Given the description of an element on the screen output the (x, y) to click on. 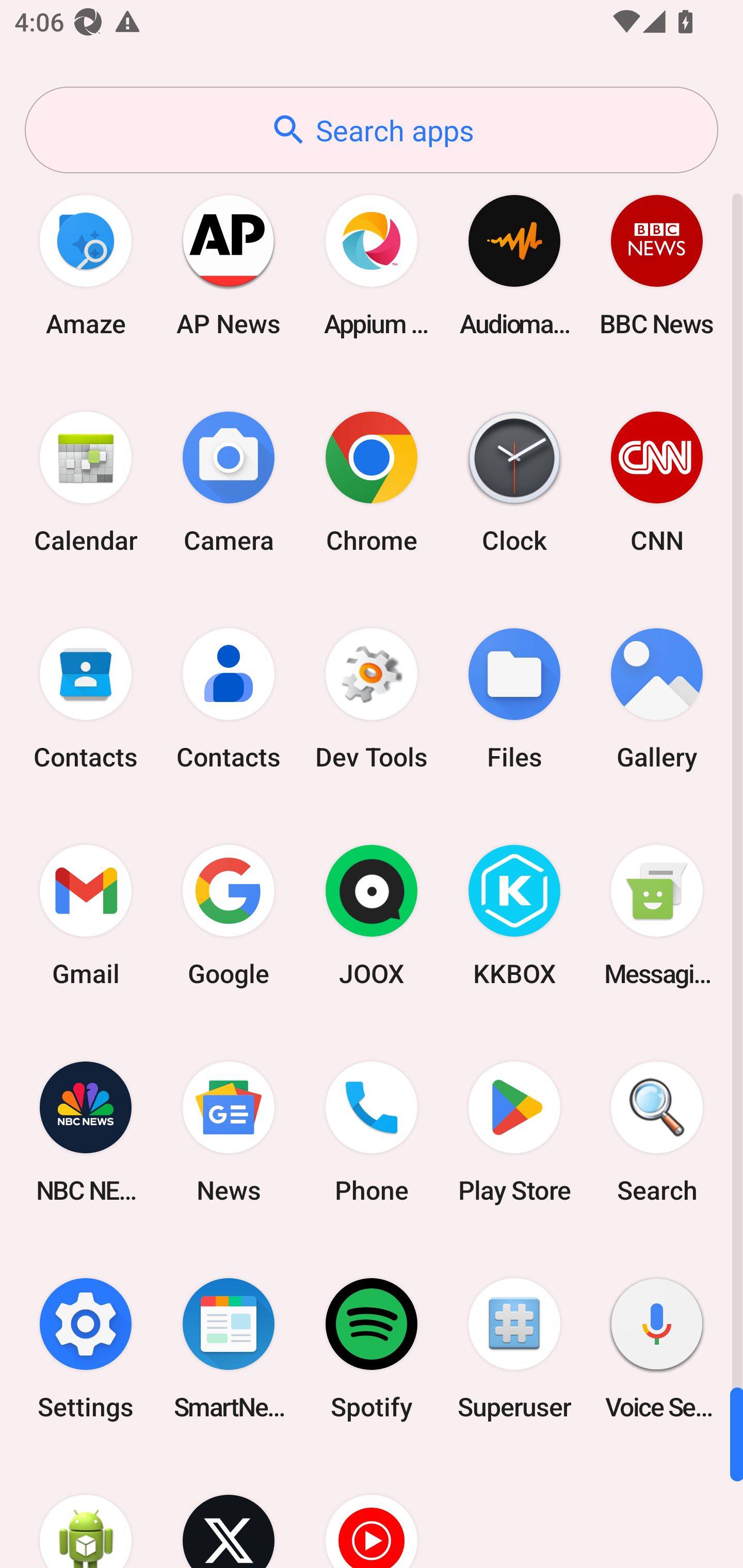
  Search apps (371, 130)
Amaze (85, 264)
AP News (228, 264)
Appium Settings (371, 264)
Audio­mack (514, 264)
BBC News (656, 264)
Calendar (85, 482)
Camera (228, 482)
Chrome (371, 482)
Clock (514, 482)
CNN (656, 482)
Contacts (85, 699)
Contacts (228, 699)
Dev Tools (371, 699)
Files (514, 699)
Gallery (656, 699)
Gmail (85, 915)
Google (228, 915)
JOOX (371, 915)
KKBOX (514, 915)
Messaging (656, 915)
NBC NEWS (85, 1131)
News (228, 1131)
Phone (371, 1131)
Play Store (514, 1131)
Search (656, 1131)
Settings (85, 1348)
SmartNews (228, 1348)
Spotify (371, 1348)
Superuser (514, 1348)
Voice Search (656, 1348)
WebView Browser Tester (85, 1512)
X (228, 1512)
YT Music (371, 1512)
